Given the description of an element on the screen output the (x, y) to click on. 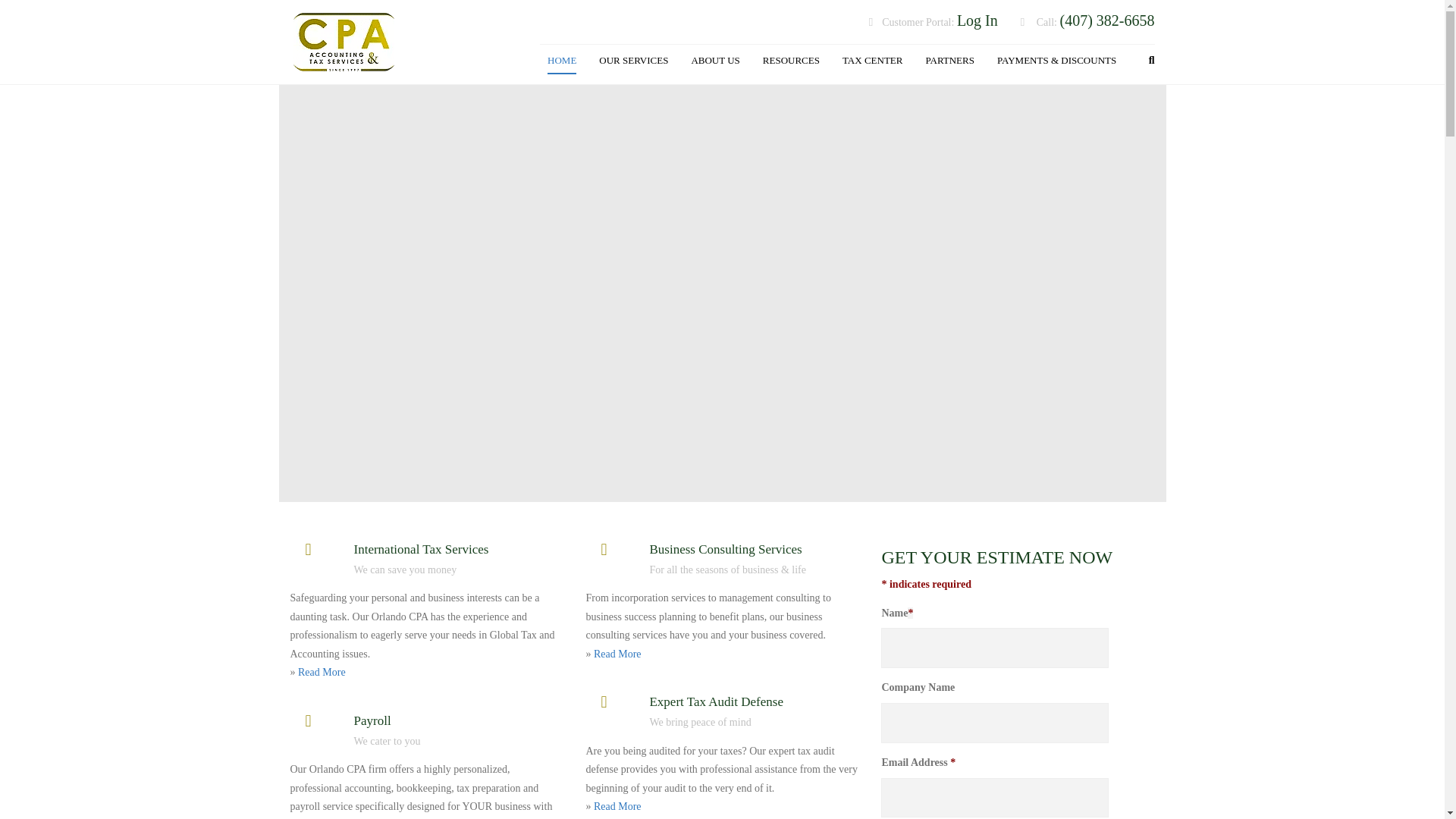
Log In (976, 21)
HOME (561, 60)
OUR SERVICES (633, 60)
